Given the description of an element on the screen output the (x, y) to click on. 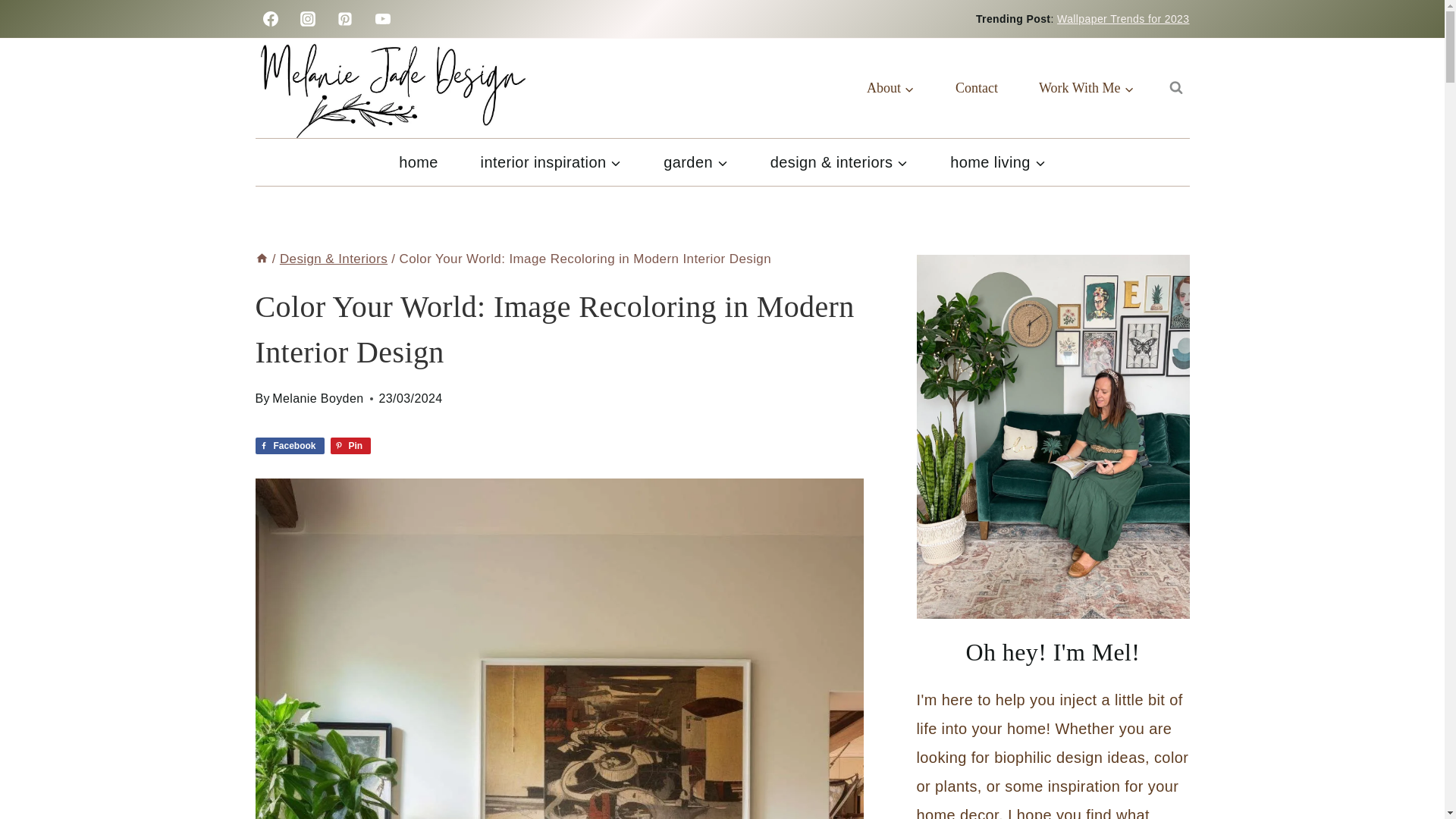
Work With Me (1085, 87)
interior inspiration (551, 161)
About (889, 87)
home (417, 161)
Wallpaper Trends for 2023 (1123, 19)
Home (260, 258)
home living (996, 161)
garden (695, 161)
Share on Pinterest (350, 445)
Contact (975, 87)
